Given the description of an element on the screen output the (x, y) to click on. 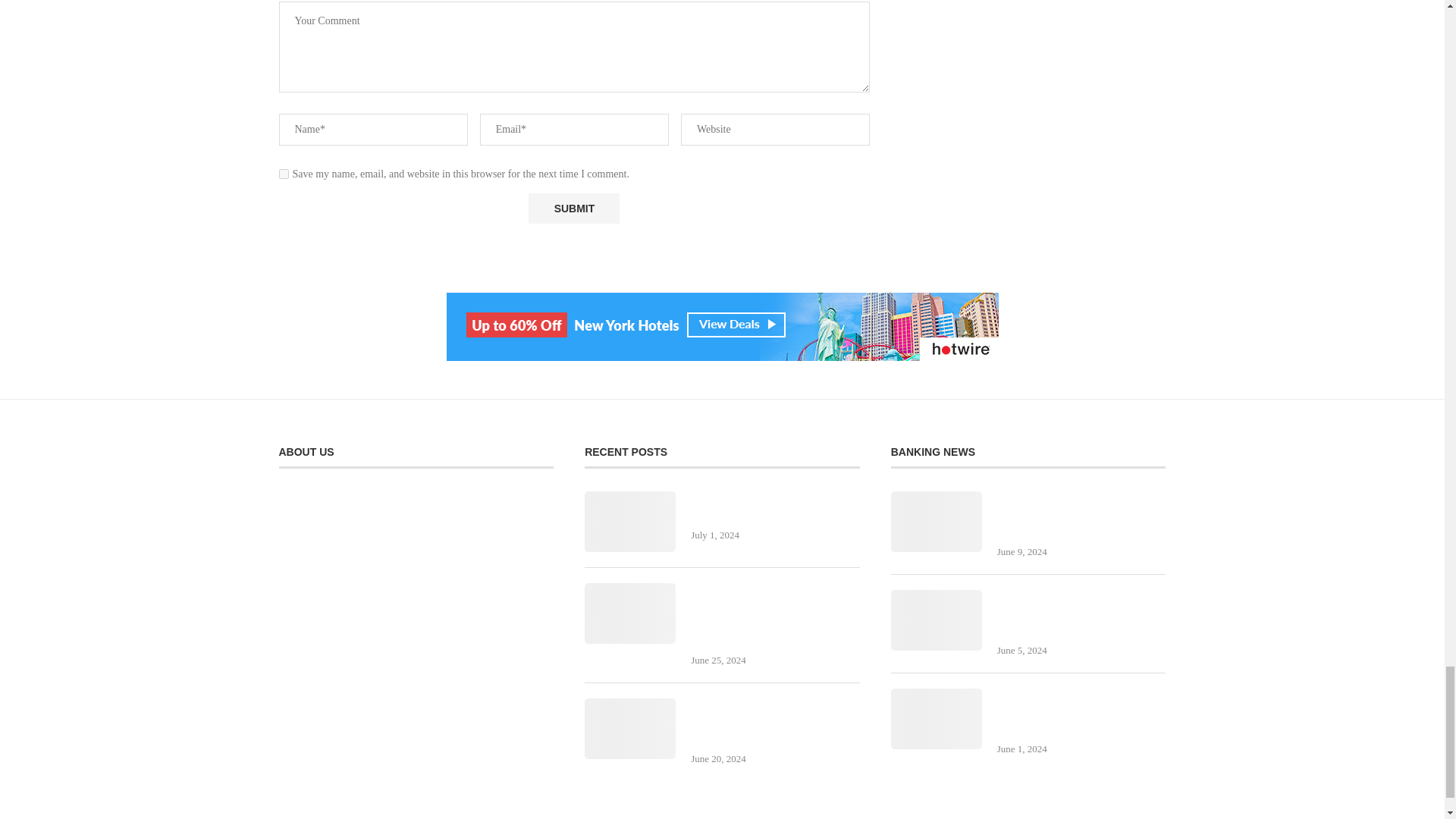
Submit (574, 208)
yes (283, 173)
